Given the description of an element on the screen output the (x, y) to click on. 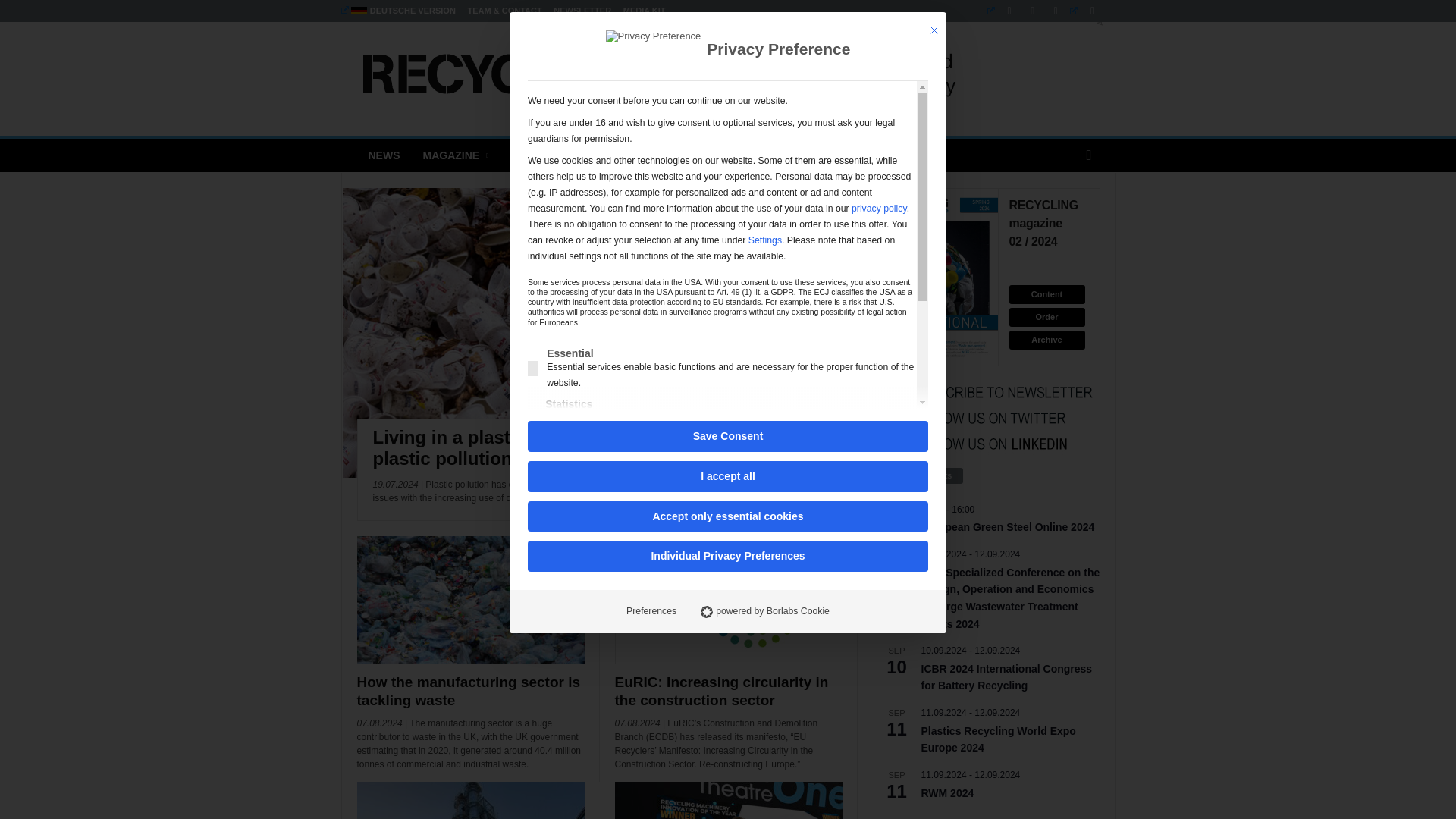
Twitter (1086, 11)
NEWSLETTER (582, 10)
MEDIA KIT (644, 10)
Linkedin (1003, 11)
DEUTSCHE VERSION (397, 10)
